Given the description of an element on the screen output the (x, y) to click on. 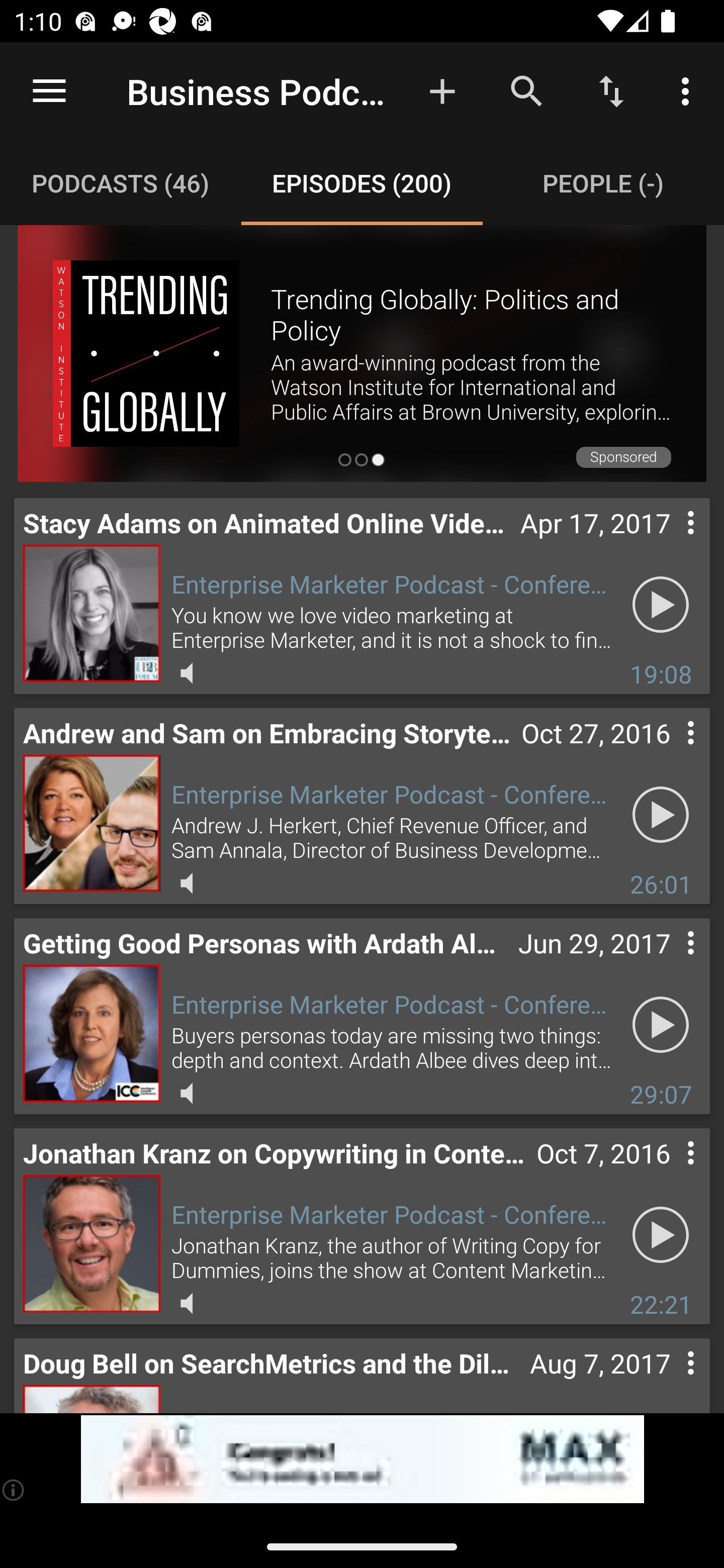
Open navigation sidebar (49, 91)
Create a 'Search Based Podcast' (442, 90)
Search (526, 90)
Sort (611, 90)
More options (688, 90)
Podcasts (46) PODCASTS (46) (120, 183)
People (-) PEOPLE (-) (603, 183)
Contextual menu (668, 542)
Play (660, 604)
Contextual menu (668, 752)
Play (660, 814)
Contextual menu (668, 963)
Play (660, 1024)
Contextual menu (668, 1173)
Play (660, 1234)
Contextual menu (668, 1377)
app-monetization (362, 1459)
(i) (14, 1489)
